Given the description of an element on the screen output the (x, y) to click on. 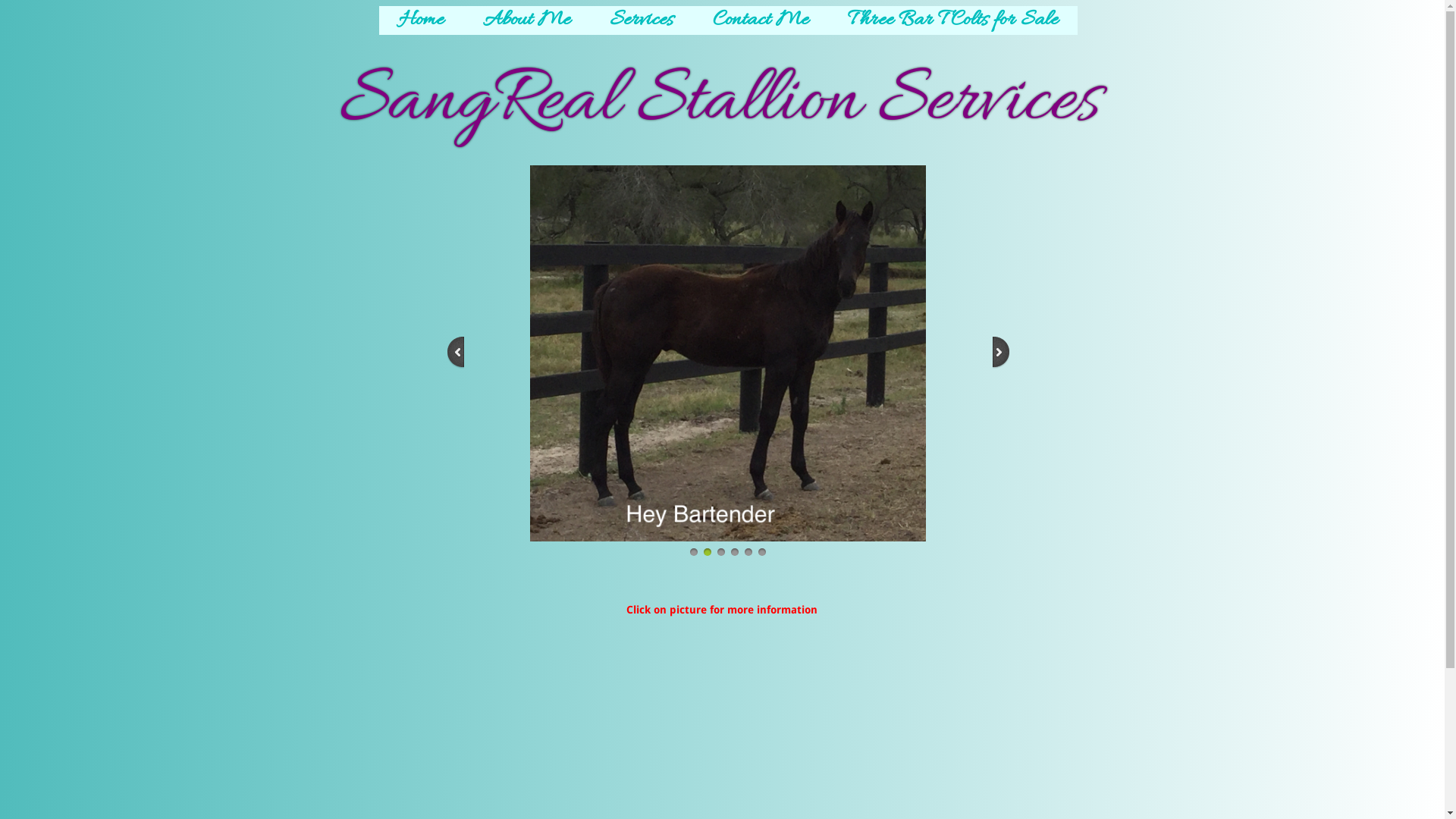
Home Element type: text (421, 20)
Services Element type: text (641, 20)
Three Bar T Colts for Sale Element type: text (952, 20)
Contact Me Element type: text (760, 20)
About Me Element type: text (525, 20)
